Given the description of an element on the screen output the (x, y) to click on. 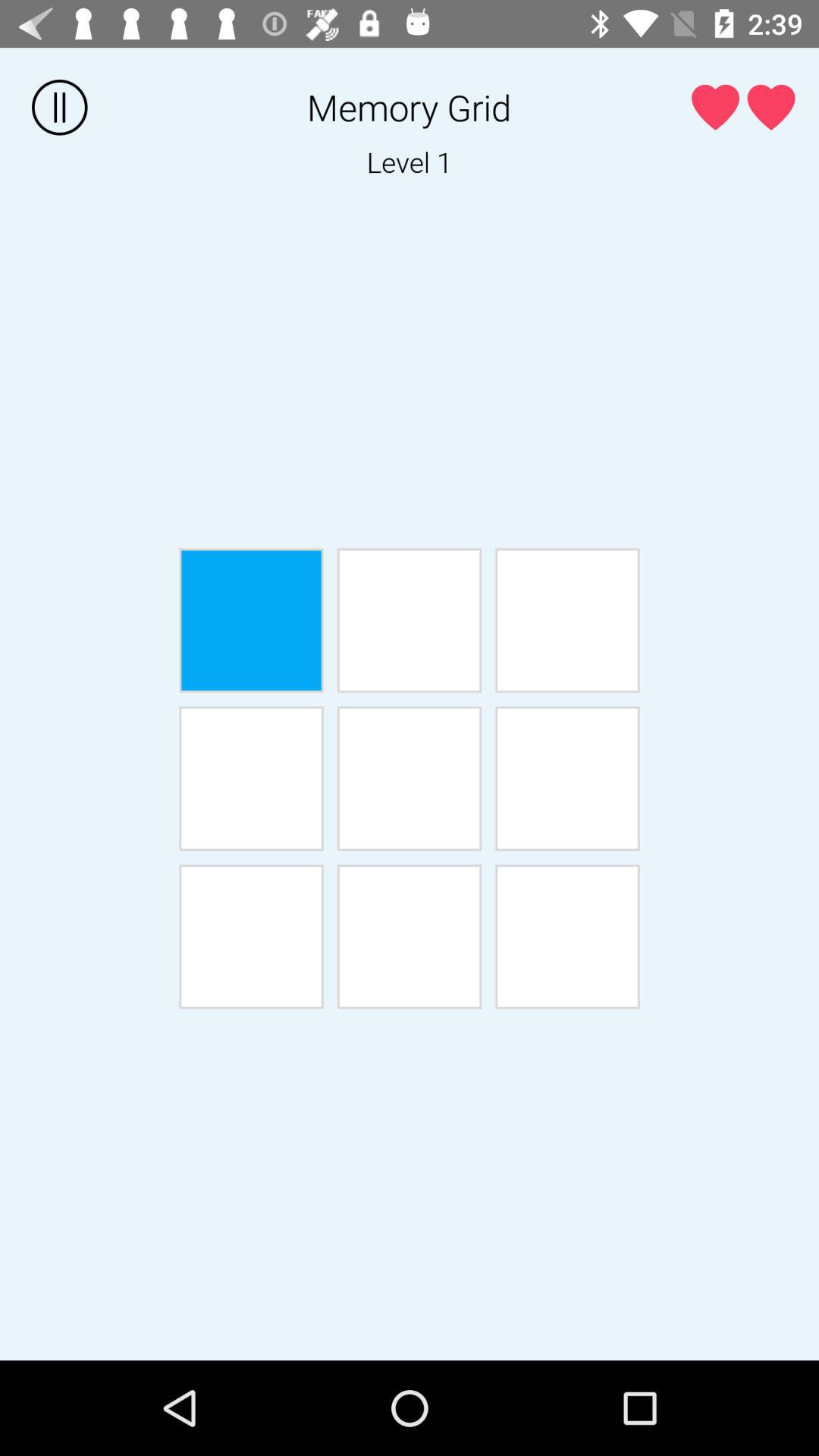
go back (251, 778)
